Given the description of an element on the screen output the (x, y) to click on. 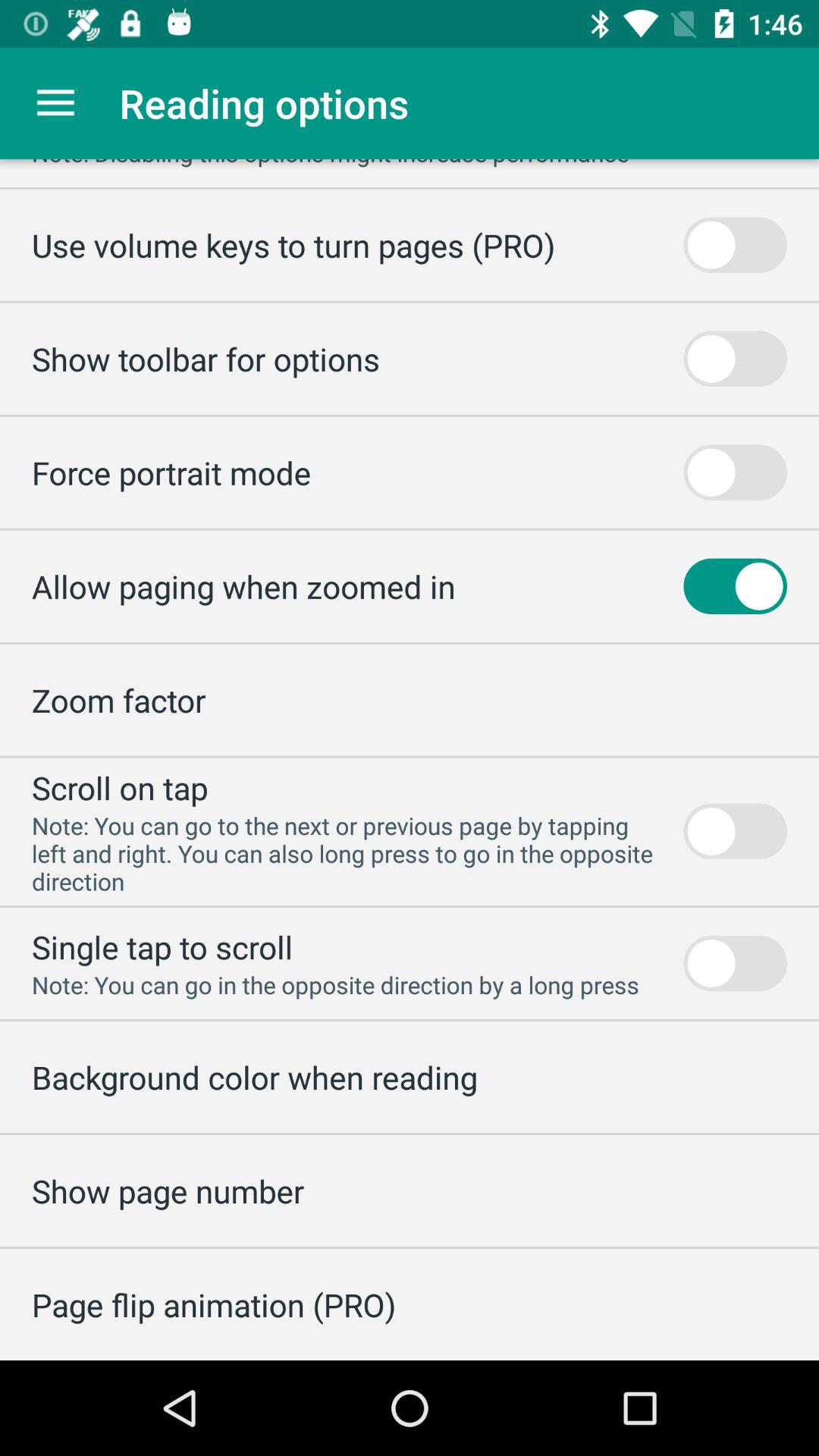
swipe to the zoom factor (118, 699)
